Given the description of an element on the screen output the (x, y) to click on. 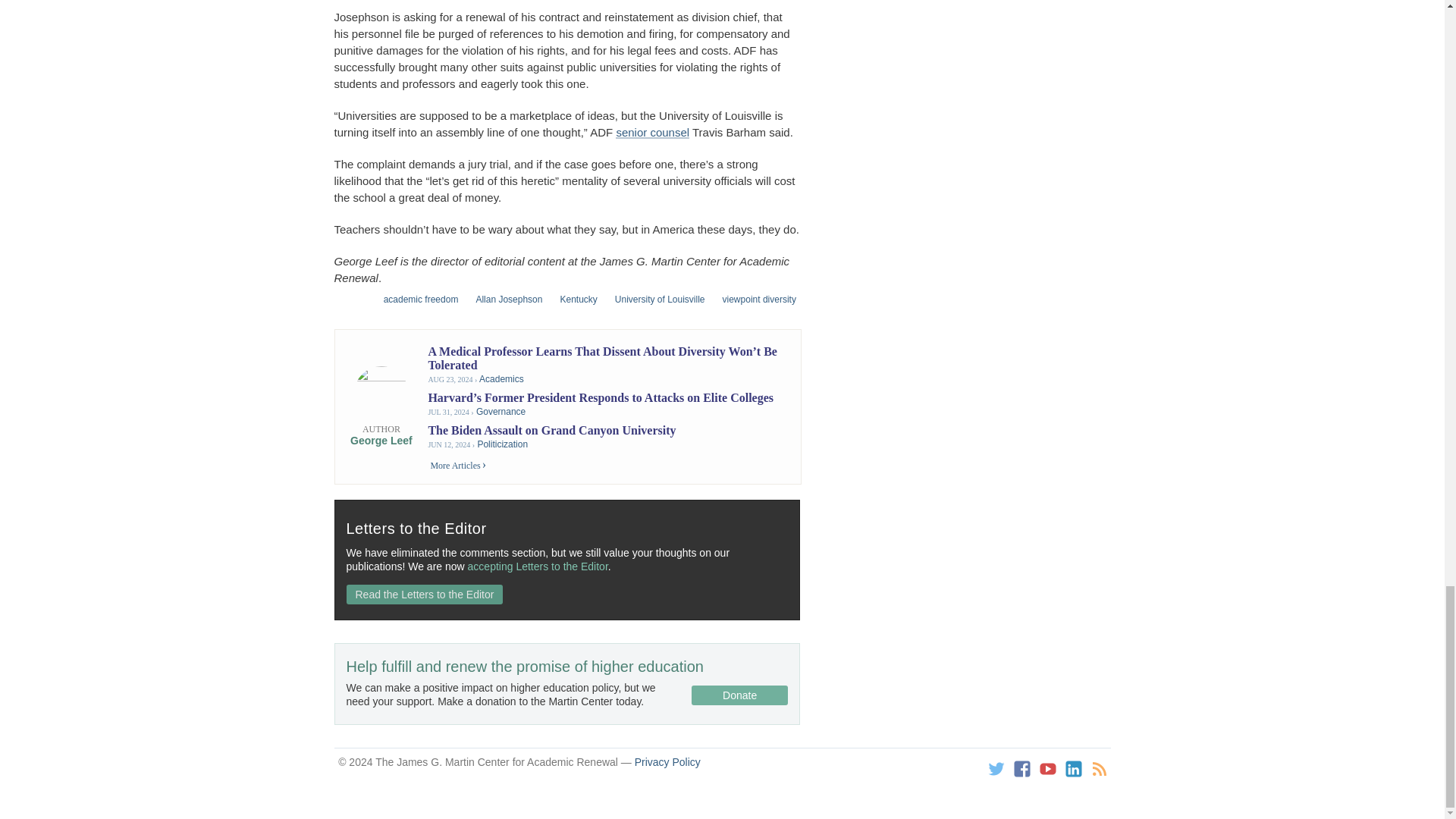
academic freedom (416, 299)
The Biden Assault on Grand Canyon University (551, 430)
senior counsel (651, 132)
Kentucky (573, 299)
Academics (501, 378)
Governance (500, 411)
viewpoint diversity (754, 299)
Allan Josephson (503, 299)
George Leef (381, 440)
University of Louisville (654, 299)
